Given the description of an element on the screen output the (x, y) to click on. 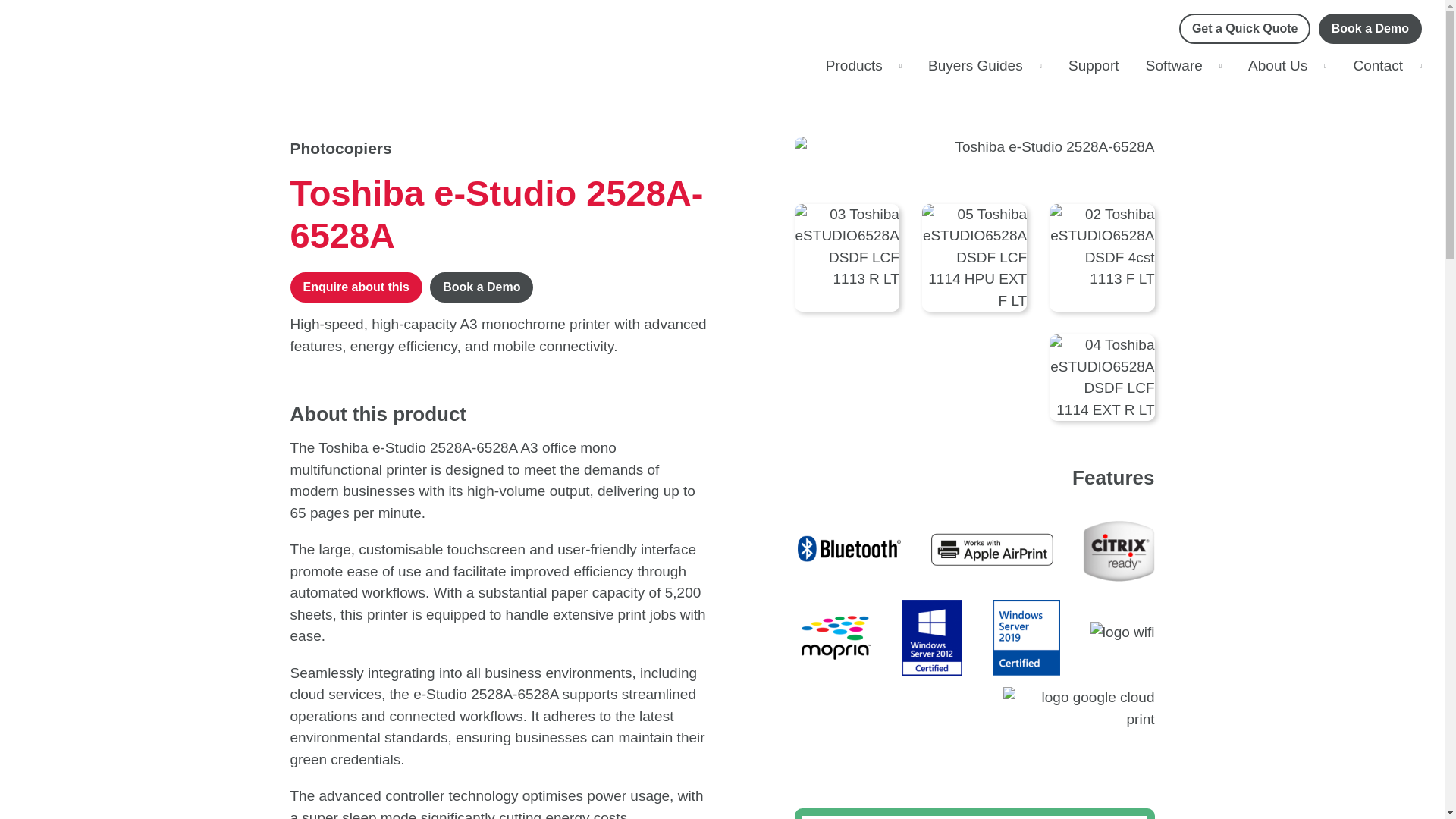
Book a Demo (1370, 28)
My Group Printing (80, 45)
Get a Quick Quote (1245, 28)
Products (863, 65)
